Given the description of an element on the screen output the (x, y) to click on. 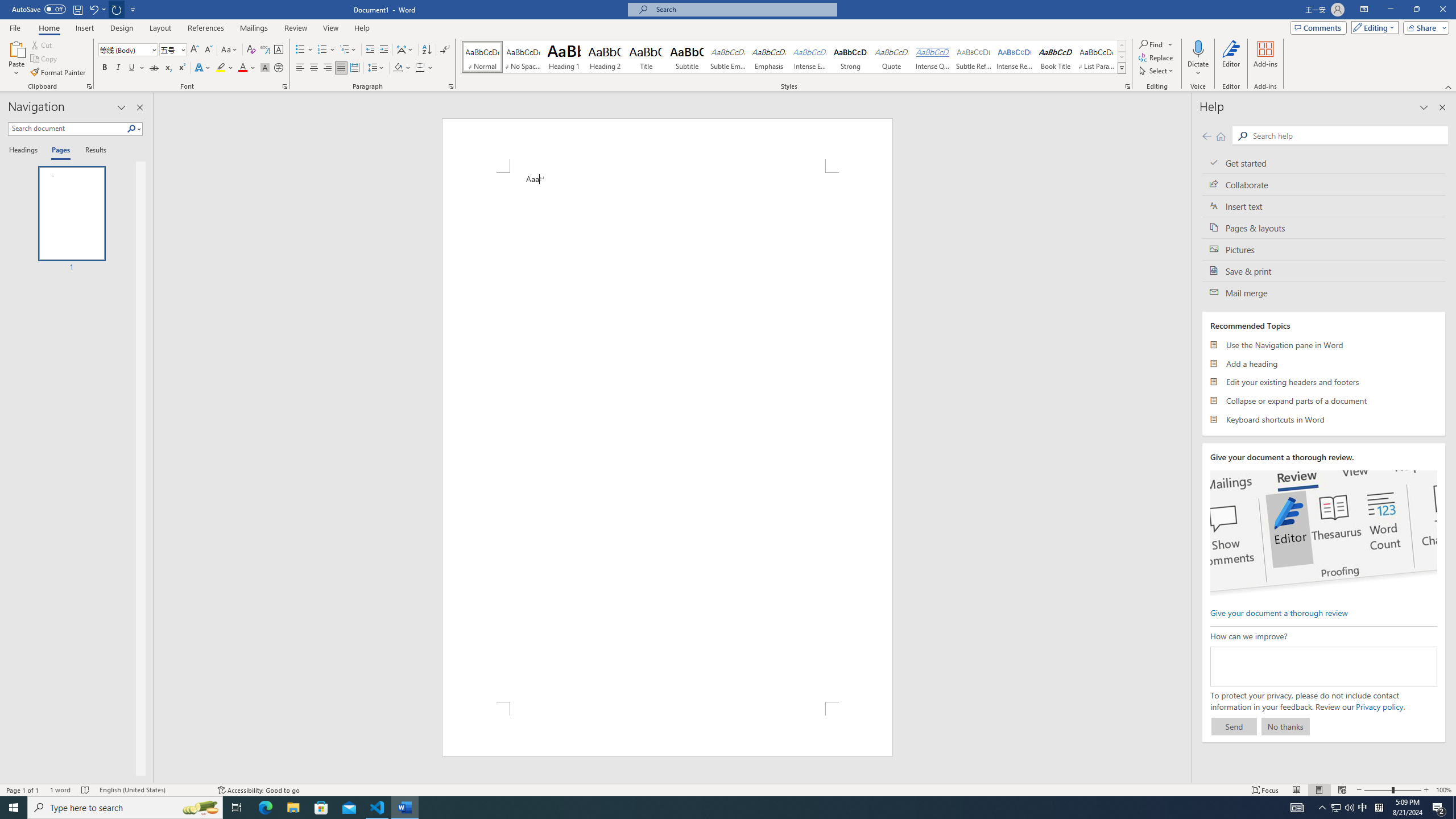
Subtle Emphasis (727, 56)
Phonetic Guide... (264, 49)
Task Pane Options (121, 107)
Class: NetUIImage (1121, 68)
Search (133, 128)
Line and Paragraph Spacing (376, 67)
Accessibility Checker Accessibility: Good to go (258, 790)
Row up (1121, 45)
No thanks (1285, 726)
Heading 2 (605, 56)
Class: MsoCommandBar (728, 789)
Results (91, 150)
Keyboard shortcuts in Word (1323, 419)
Previous page (1206, 136)
Comments (1318, 27)
